Given the description of an element on the screen output the (x, y) to click on. 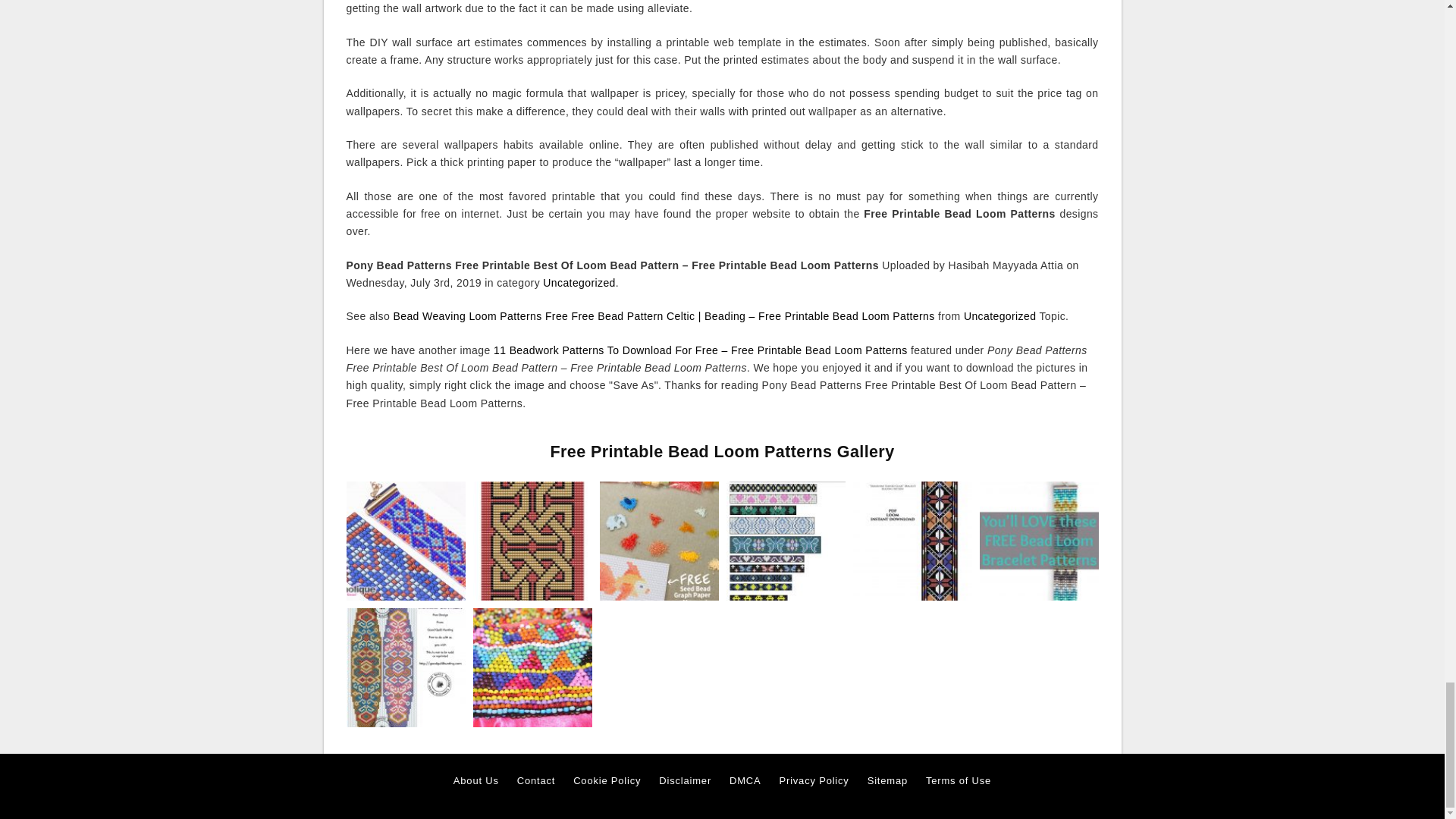
About Us (475, 781)
Uncategorized (999, 316)
Sitemap (887, 781)
Cookie Policy (606, 781)
Contact (535, 781)
Disclaimer (685, 781)
Privacy Policy (813, 781)
Uncategorized (578, 282)
DMCA (744, 781)
